Given the description of an element on the screen output the (x, y) to click on. 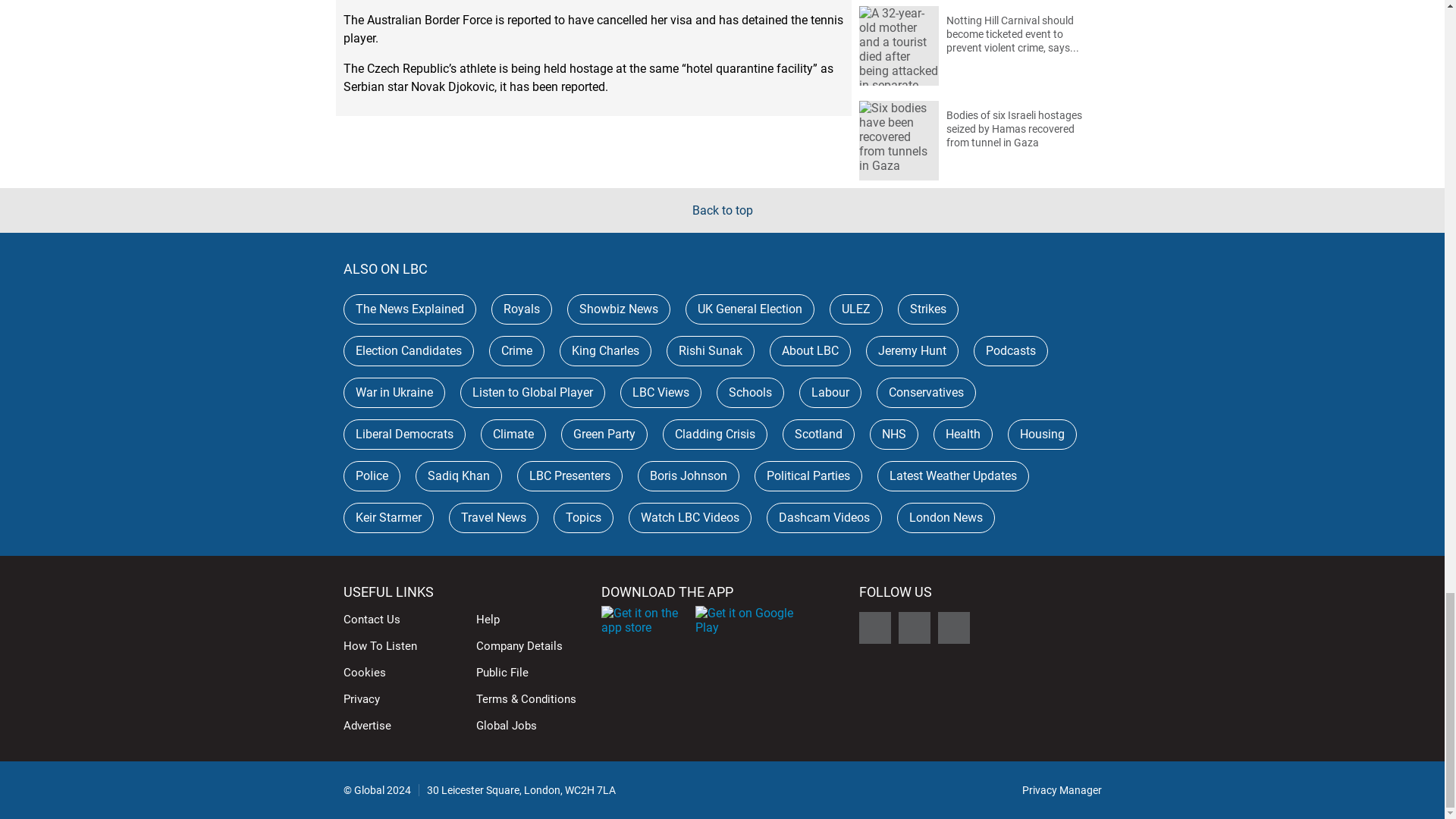
Follow LBC on Youtube (953, 627)
Back to top (721, 210)
Follow LBC on Facebook (874, 627)
Follow LBC on Instagram (914, 627)
